Given the description of an element on the screen output the (x, y) to click on. 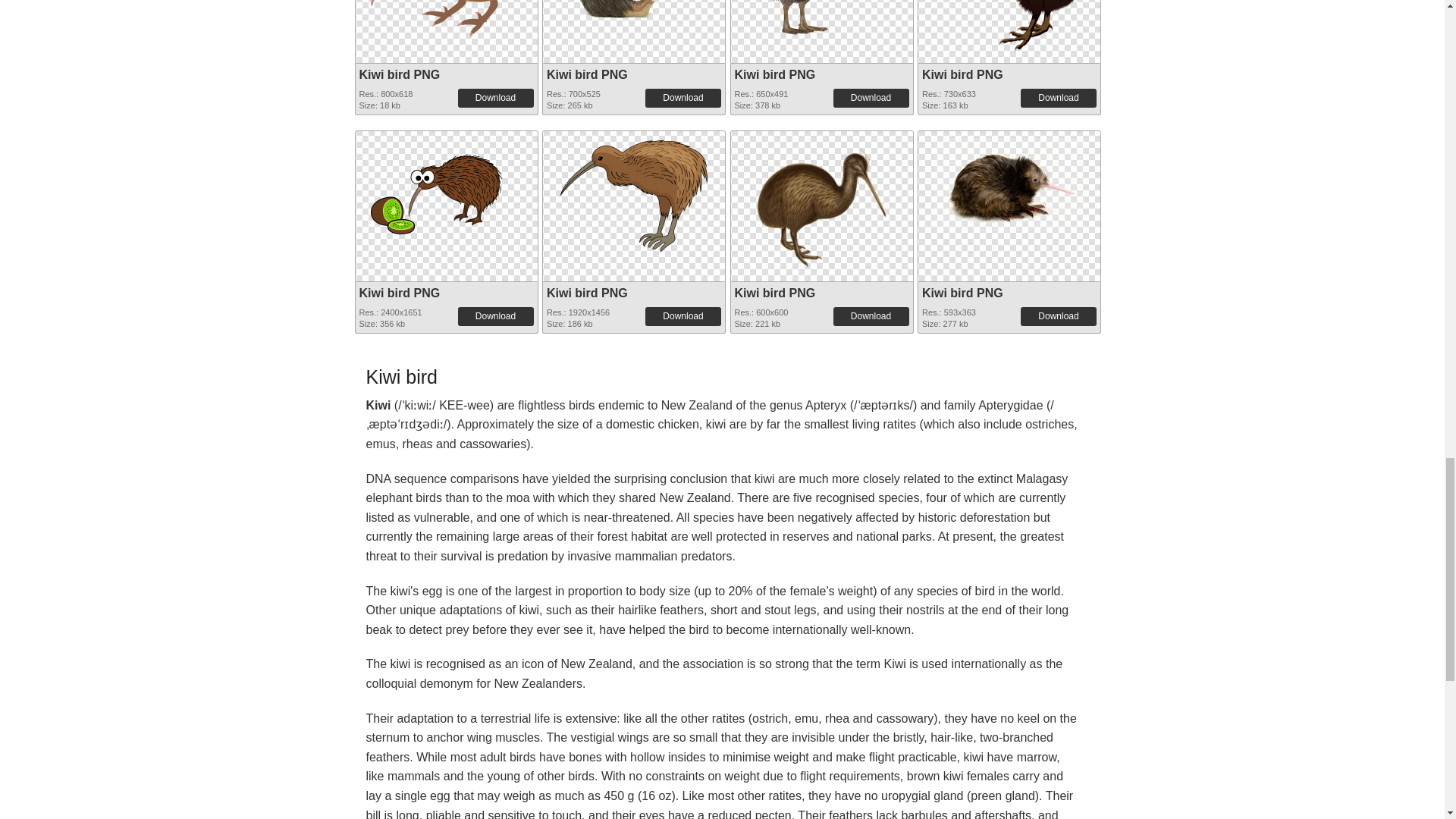
Kiwi bird PNG (587, 74)
Kiwi bird PNG (400, 74)
Download (496, 97)
Download (1058, 97)
Kiwi bird PNG (962, 74)
Kiwi bird PNG (445, 18)
Download (682, 97)
Kiwi bird PNG (633, 17)
Kiwi bird PNG (821, 17)
Kiwi bird PNG (774, 74)
Download (870, 97)
